Given the description of an element on the screen output the (x, y) to click on. 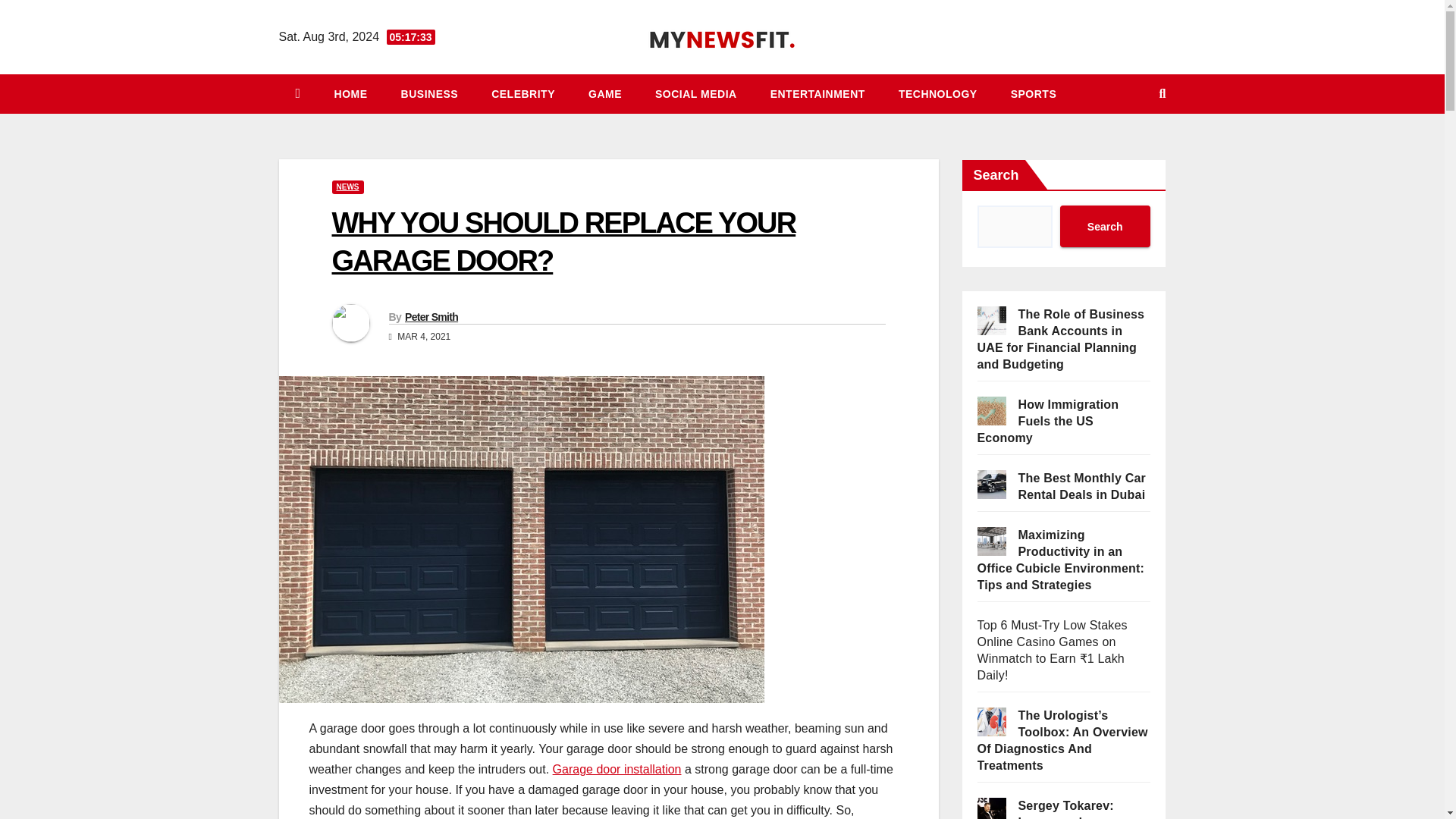
Game (605, 93)
Social Media (696, 93)
GAME (605, 93)
Sports (1034, 93)
HOME (350, 93)
SPORTS (1034, 93)
Entertainment (818, 93)
Business (430, 93)
Celebrity (523, 93)
CELEBRITY (523, 93)
